Given the description of an element on the screen output the (x, y) to click on. 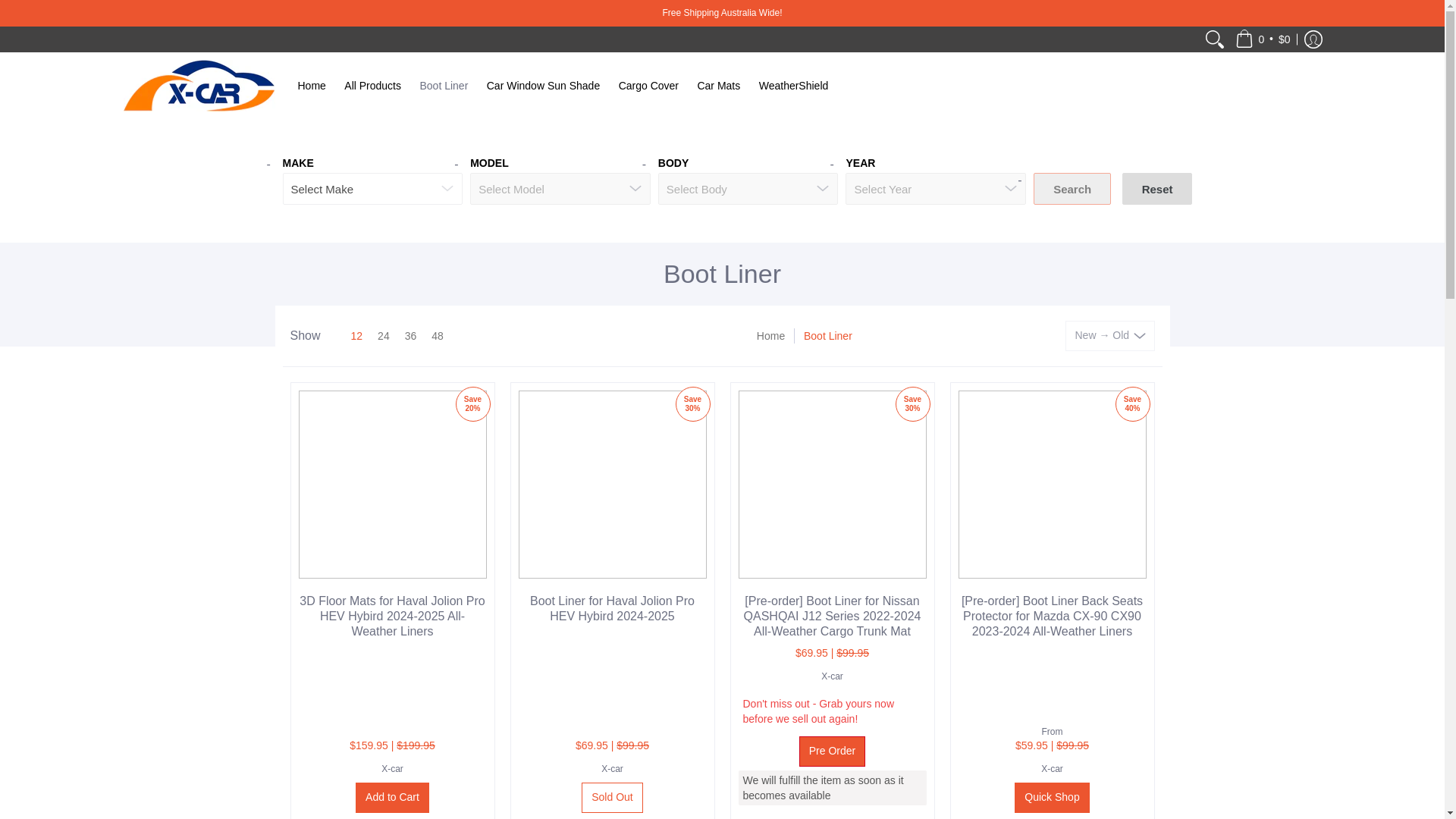
Cargo Cover (648, 85)
Pre Order (831, 751)
Sold Out (611, 797)
48 (437, 335)
All Products (372, 85)
Home (770, 335)
X-car (392, 768)
Boot Liner (444, 85)
Car Window Sun Shade (543, 85)
All Products (372, 85)
Cargo Cover (648, 85)
Log in (1312, 39)
12 (345, 335)
Search (1071, 188)
